Given the description of an element on the screen output the (x, y) to click on. 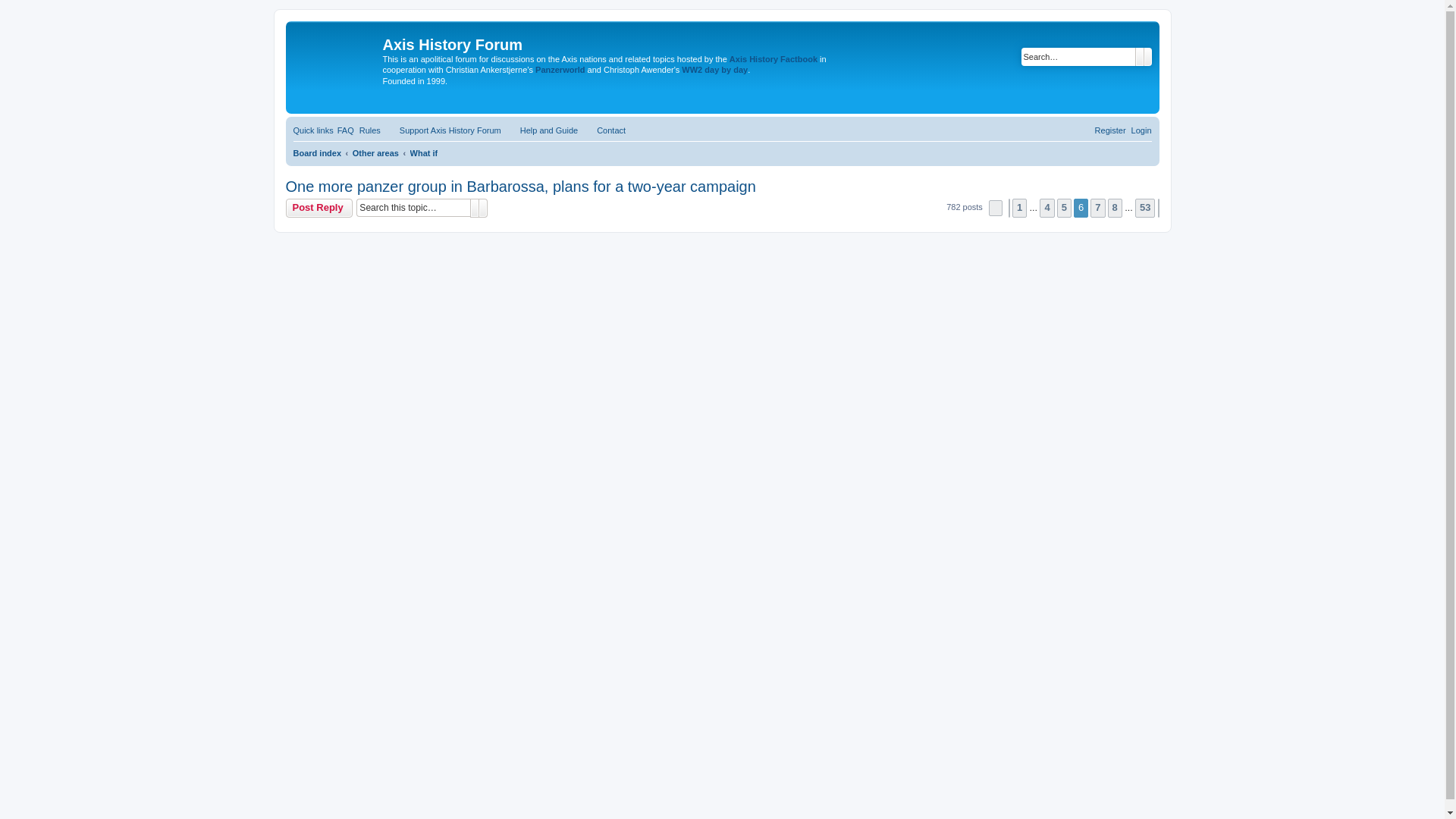
Login (1141, 130)
WW2 day by day (714, 69)
Axis History Factbook (772, 59)
FAQ (345, 130)
Search for keywords (1077, 56)
Board index (316, 153)
Panzerworld (560, 69)
Frequently Asked Questions (345, 130)
Quick links (312, 130)
Post a reply (318, 208)
